Given the description of an element on the screen output the (x, y) to click on. 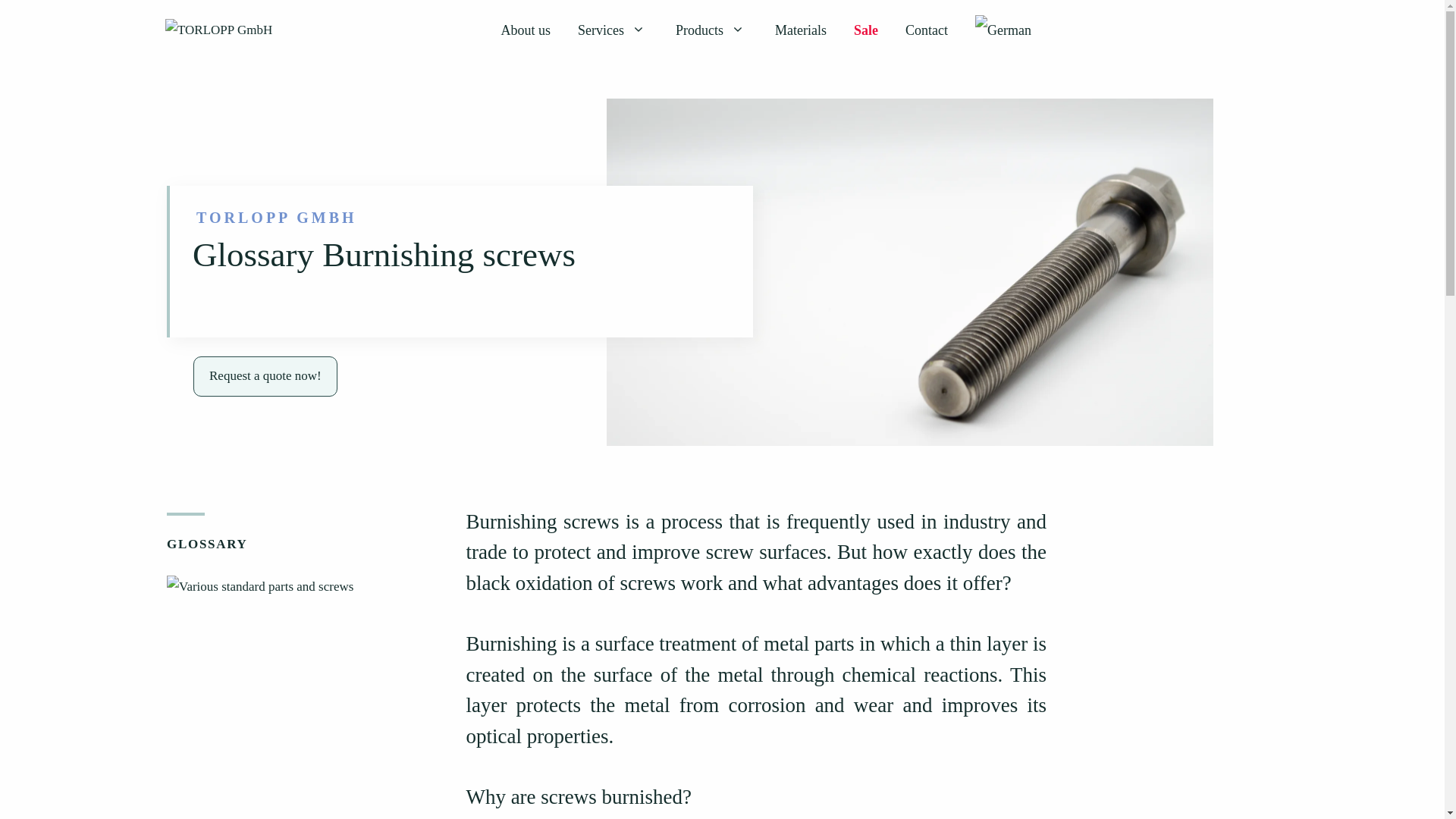
About us (525, 30)
Contact (925, 30)
Services (613, 30)
Products (711, 30)
various-standard-parts-and-screws (260, 586)
Sale (865, 30)
Materials (800, 30)
